Given the description of an element on the screen output the (x, y) to click on. 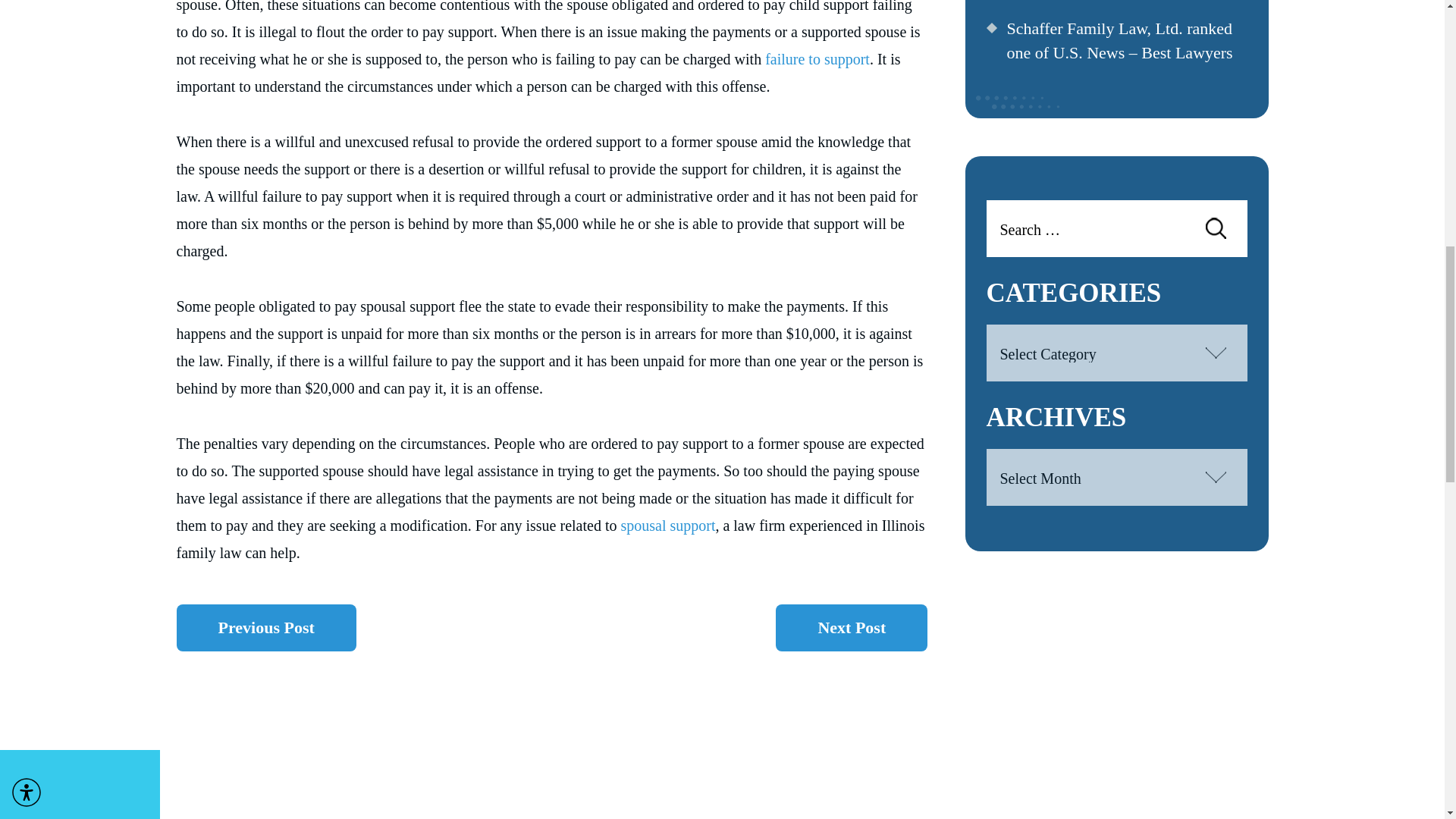
Search (1215, 228)
Search (1215, 228)
